Given the description of an element on the screen output the (x, y) to click on. 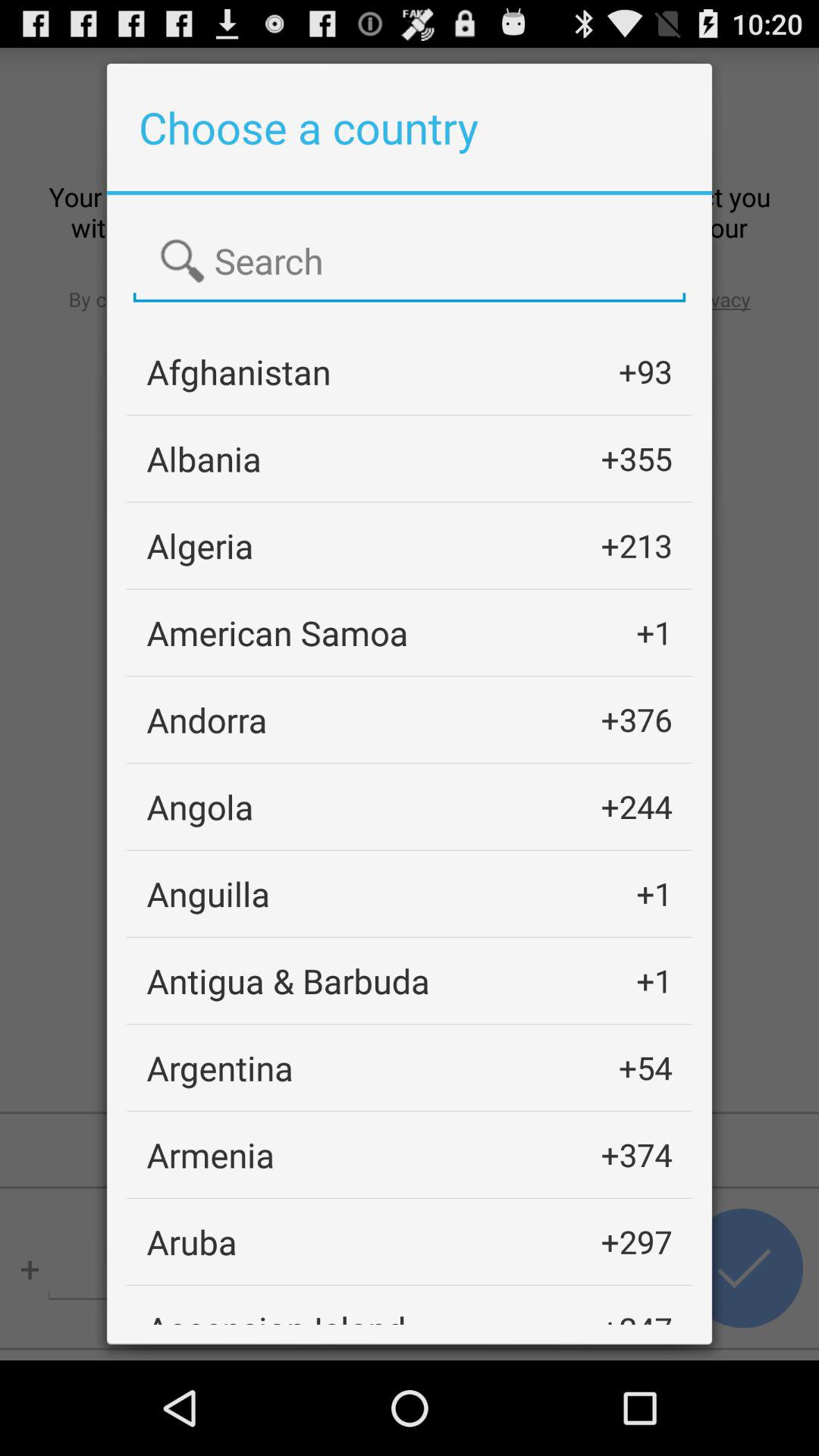
click the +244 item (636, 806)
